Given the description of an element on the screen output the (x, y) to click on. 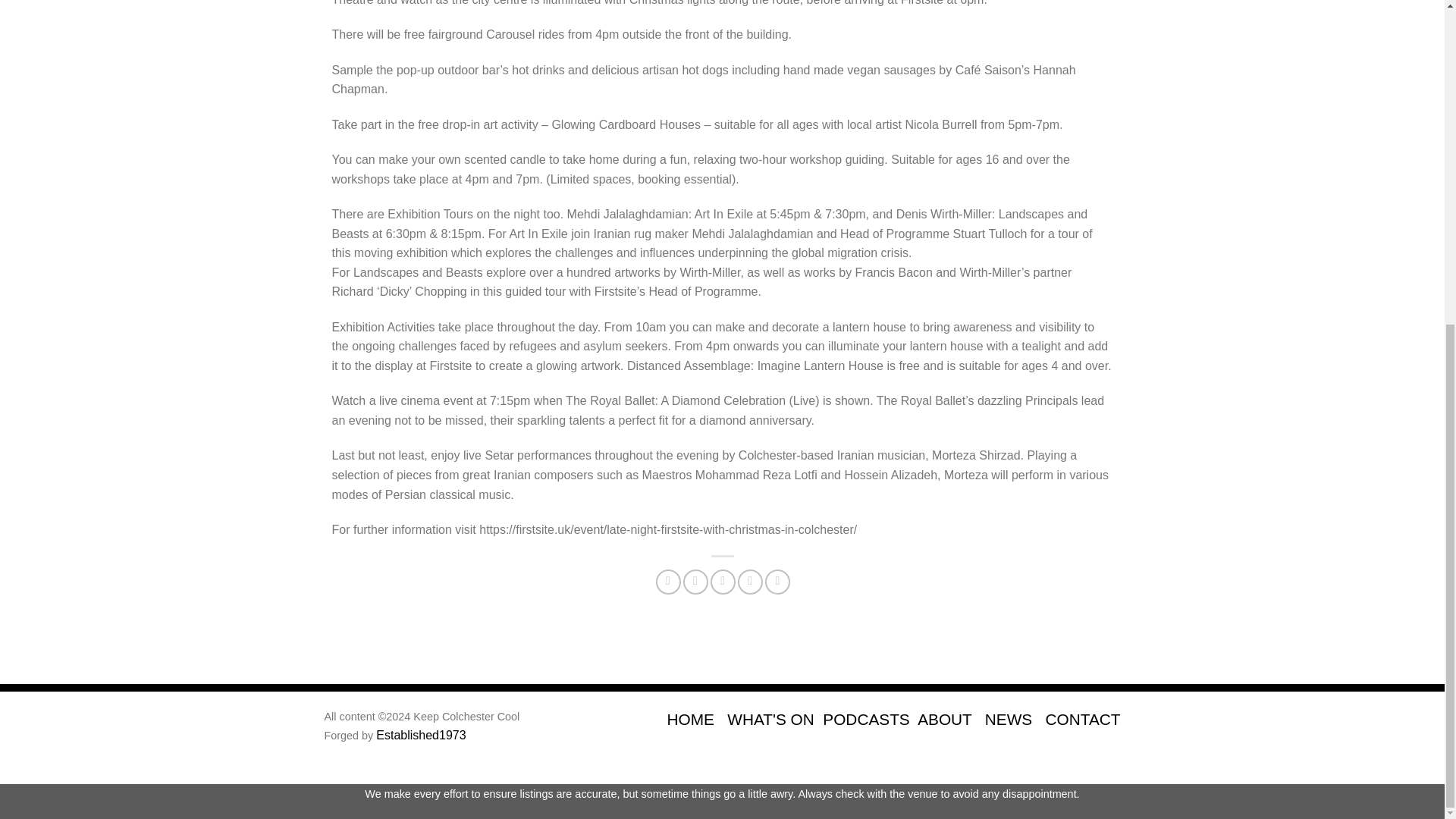
Email to a Friend (722, 581)
Share on LinkedIn (777, 581)
Share on Twitter (694, 581)
ABOUT (944, 719)
NEWS (1008, 719)
PODCASTS (865, 719)
WHAT'S ON (769, 719)
CONTACT (1083, 719)
Established1973 (420, 735)
HOME (690, 719)
Pin on Pinterest (750, 581)
Share on Facebook (668, 581)
